Given the description of an element on the screen output the (x, y) to click on. 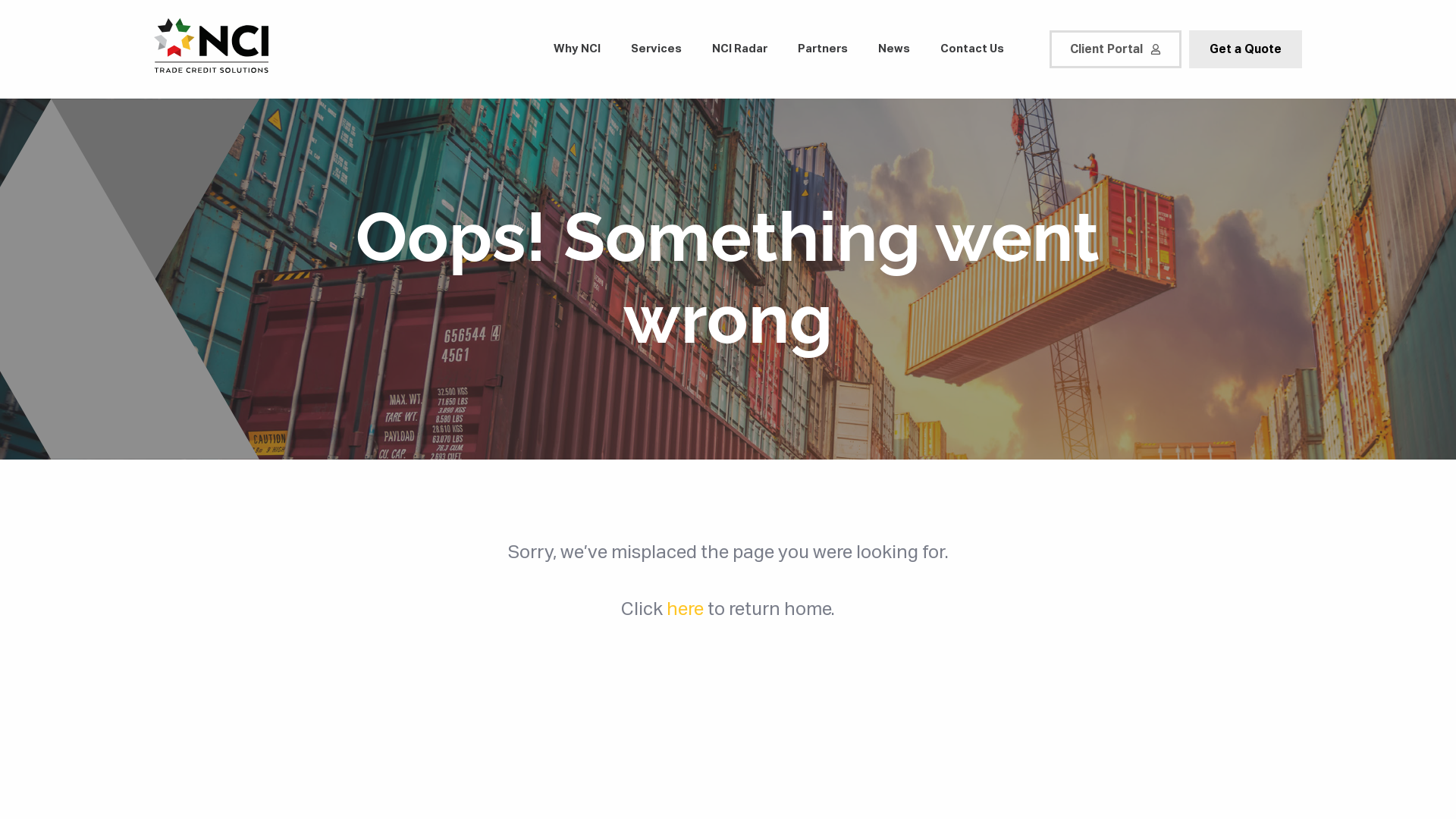
NCI Radar Element type: text (739, 49)
Partners Element type: text (822, 49)
Contact Us Element type: text (972, 49)
News Element type: text (894, 49)
Search Element type: text (25, 9)
here Element type: text (684, 607)
Client Portal Element type: text (1115, 49)
Why NCI Element type: text (576, 49)
Services Element type: text (655, 49)
Get a Quote Element type: text (1245, 49)
